Given the description of an element on the screen output the (x, y) to click on. 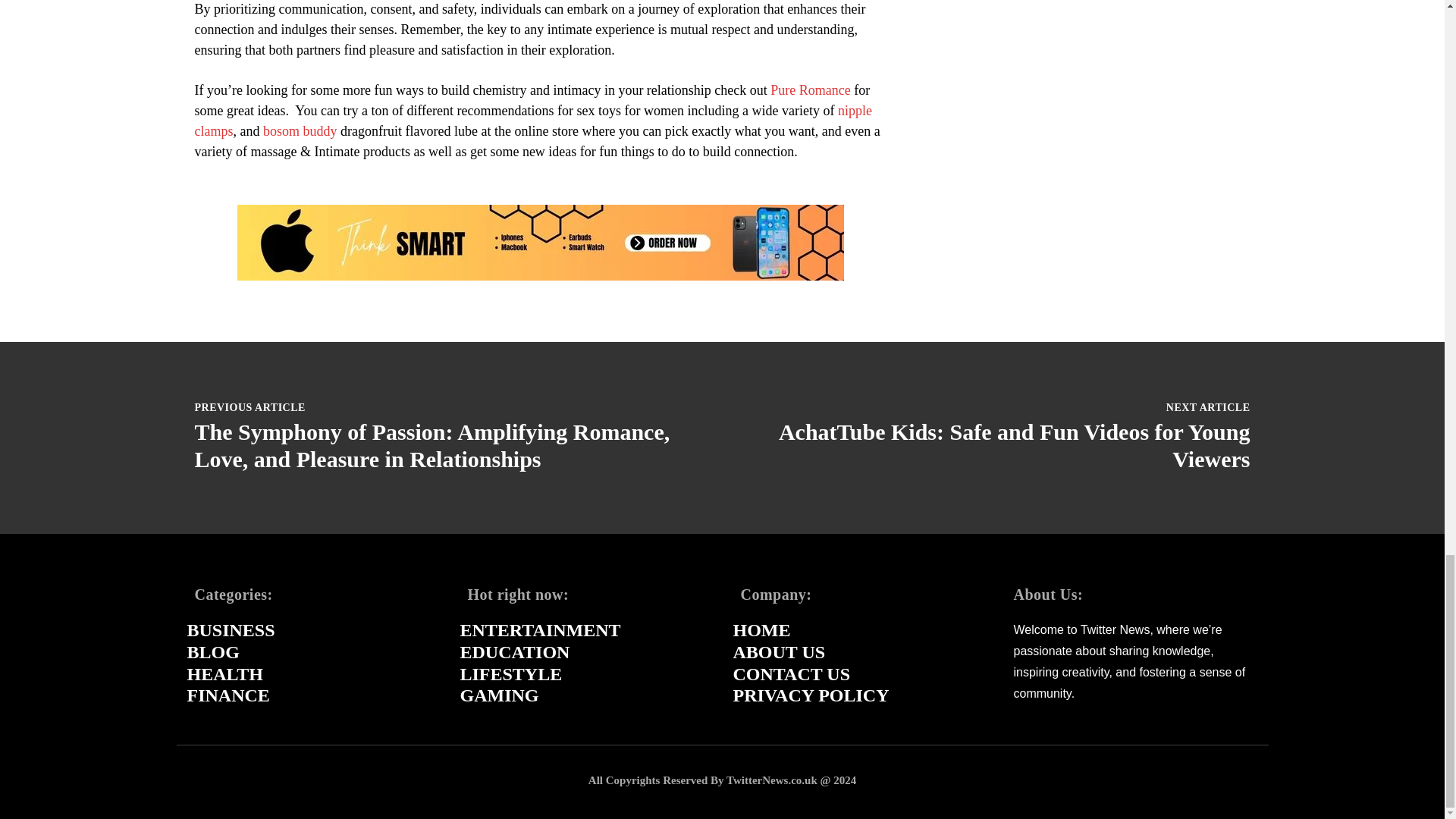
Pure Romance (810, 89)
